Given the description of an element on the screen output the (x, y) to click on. 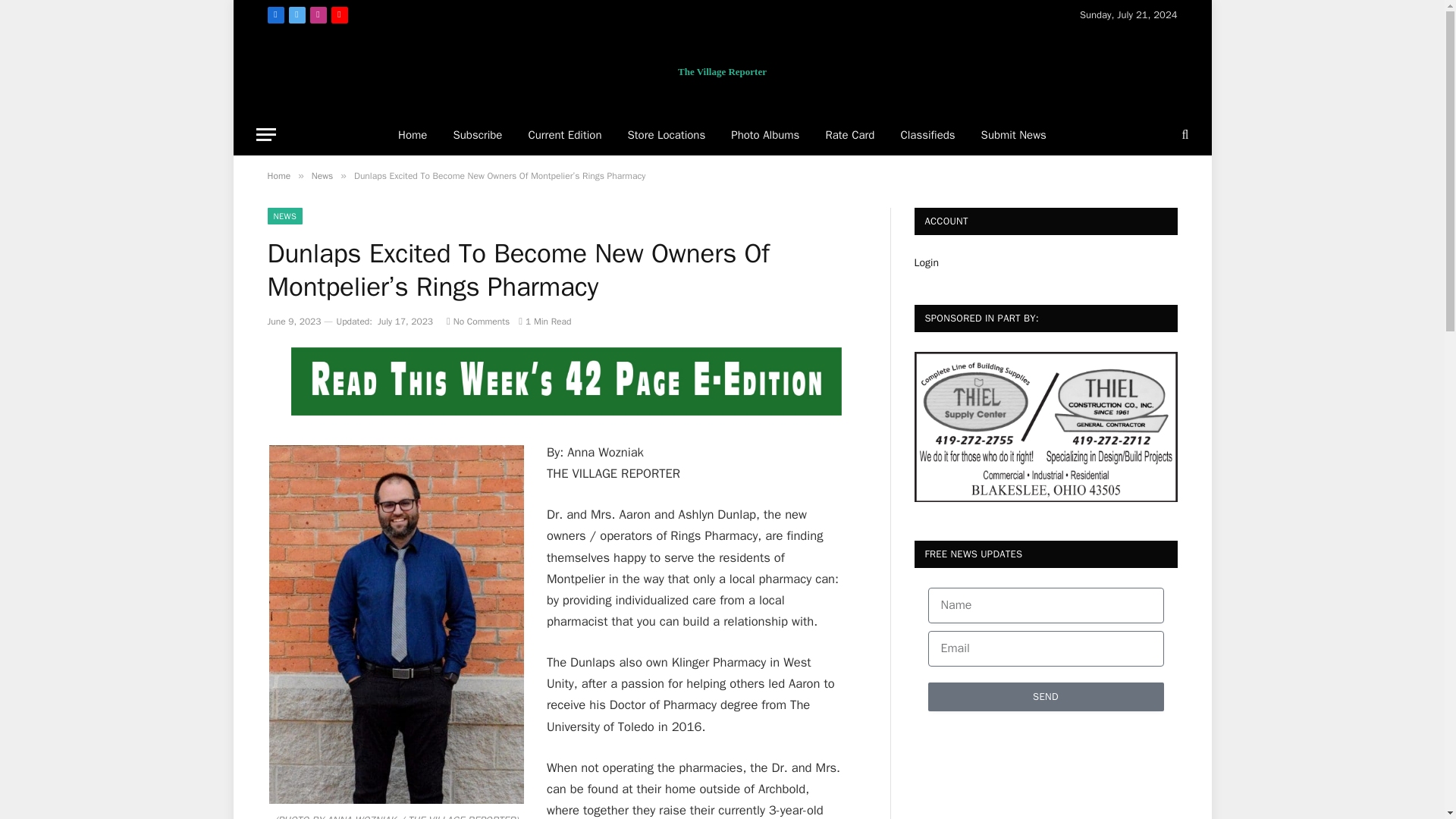
News (322, 175)
Rate Card (849, 134)
Home (277, 175)
Submit News (1013, 134)
Home (412, 134)
Store Locations (665, 134)
Subscribe (477, 134)
NEWS (284, 216)
Photo Albums (764, 134)
Facebook (274, 14)
No Comments (477, 321)
YouTube (338, 14)
Classifieds (927, 134)
Instagram (317, 14)
Current Edition (564, 134)
